Given the description of an element on the screen output the (x, y) to click on. 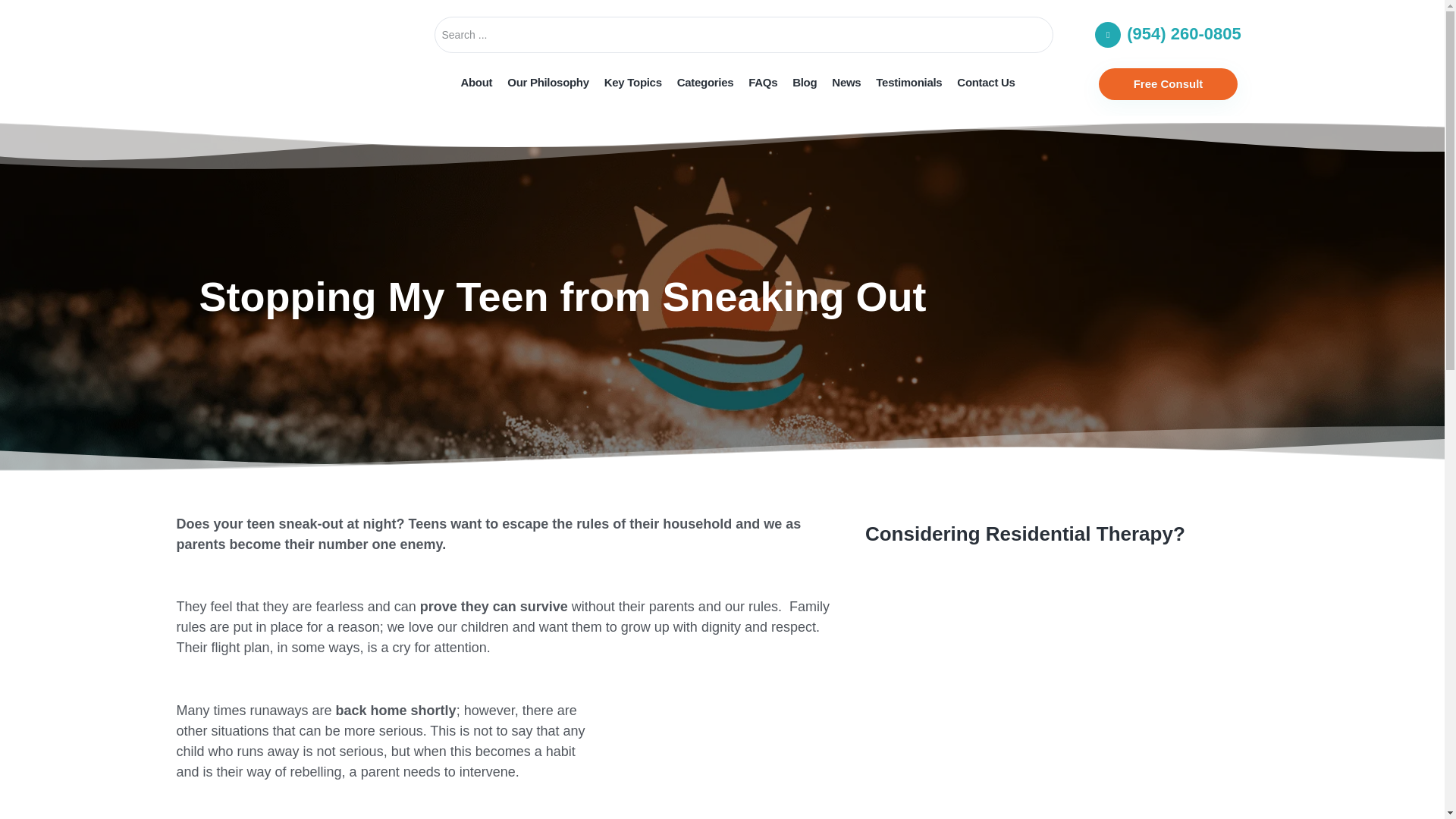
Contact Us (985, 81)
About (475, 81)
Blog (804, 81)
Testimonials (908, 81)
Key Topics (632, 81)
FAQs (762, 81)
Stopping My Teen from Sneaking Out 1 (724, 760)
News (845, 81)
Categories (705, 81)
Our Philosophy (547, 81)
